Given the description of an element on the screen output the (x, y) to click on. 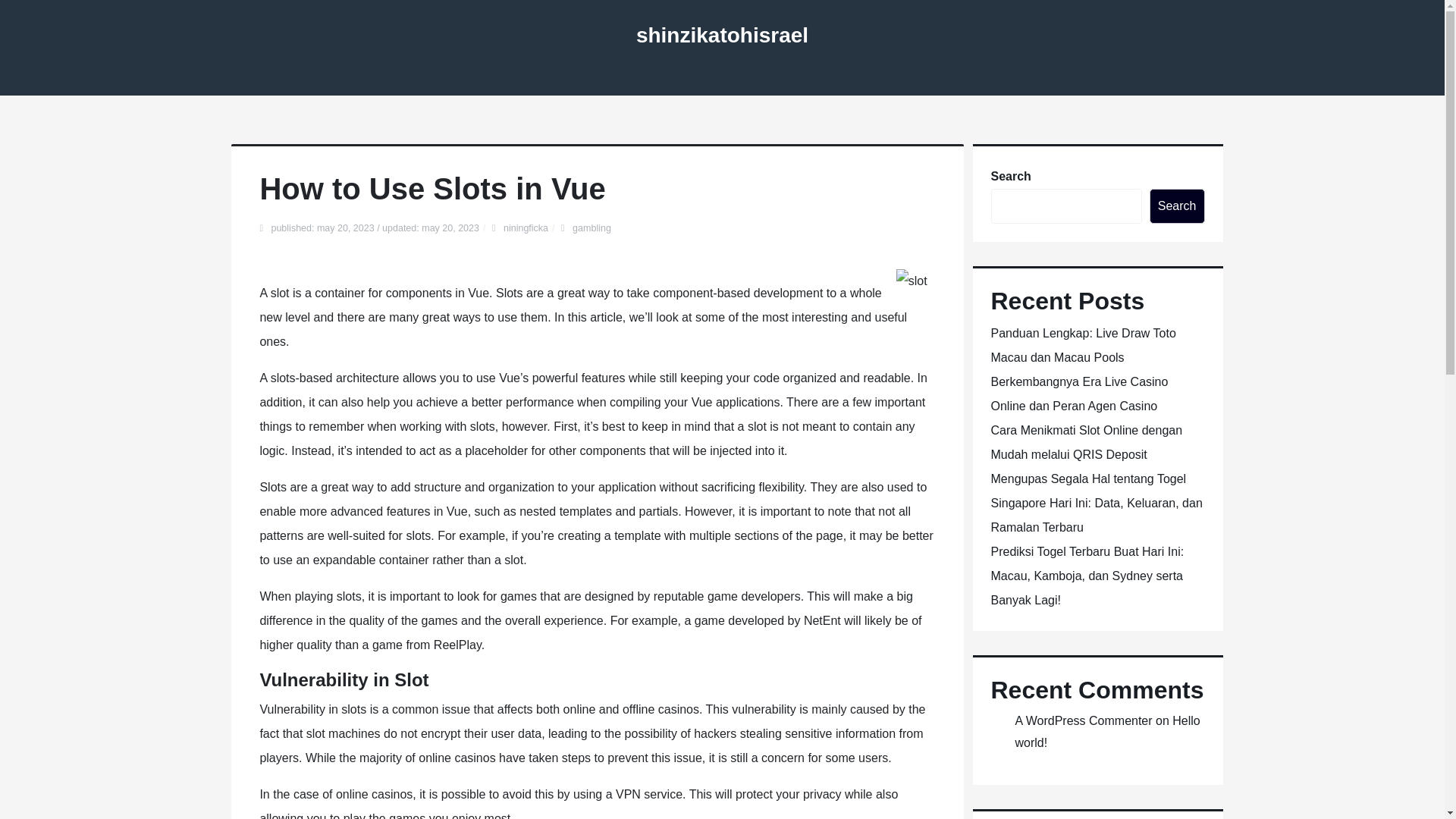
Panduan Lengkap: Live Draw Toto Macau dan Macau Pools (1082, 344)
Hello world! (1106, 731)
Berkembangnya Era Live Casino Online dan Peran Agen Casino (1078, 393)
Cara Menikmati Slot Online dengan Mudah melalui QRIS Deposit (1086, 442)
A WordPress Commenter (1082, 720)
Search (1177, 206)
gambling (591, 227)
shinzikatohisrael (722, 34)
niningficka (525, 227)
